Given the description of an element on the screen output the (x, y) to click on. 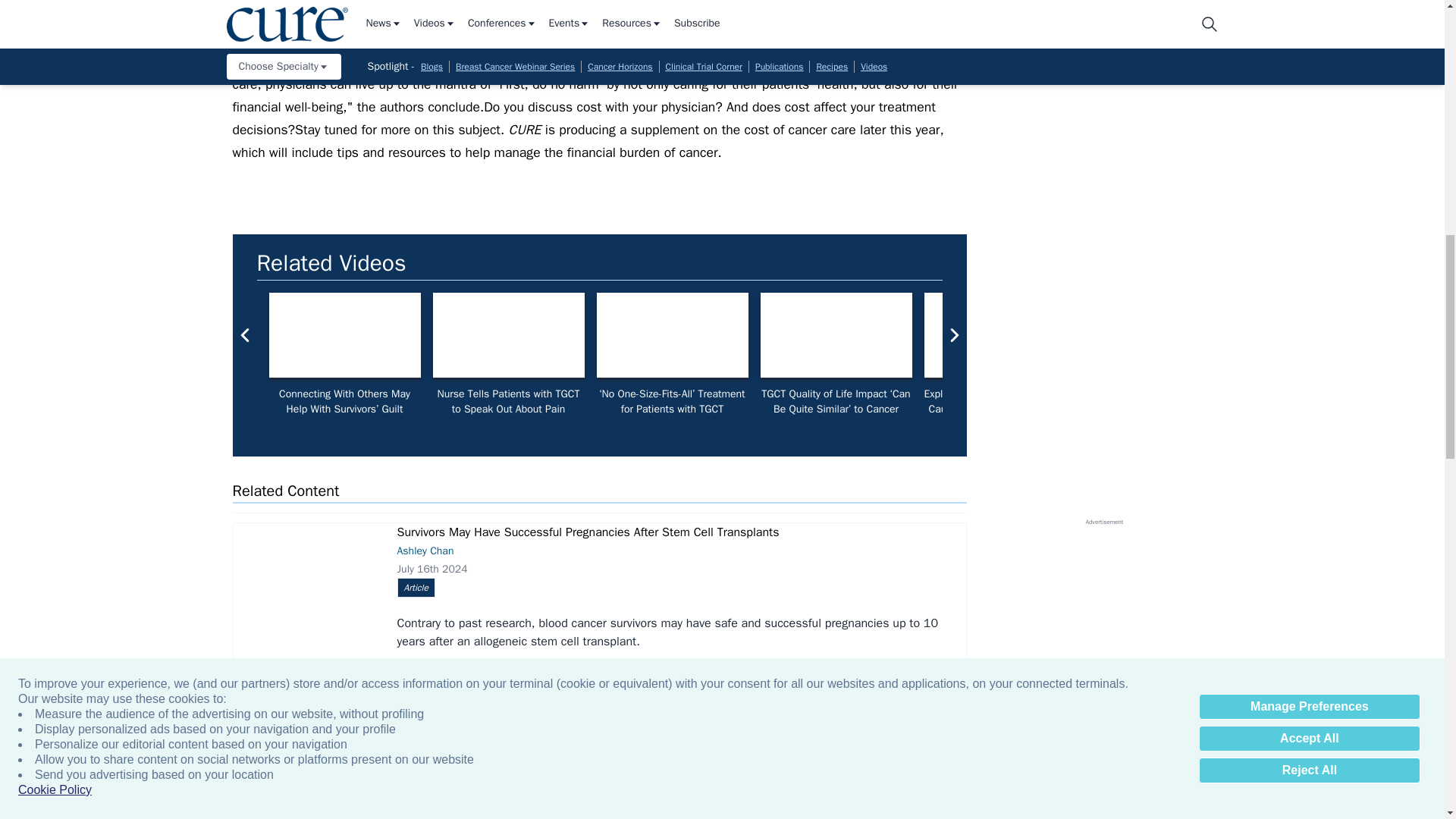
Image of a woman with a brown hair tied into a bun.  (343, 335)
Image of Annie Bond. (1326, 335)
Nurse Tells Patients with TGCT to Speak Out About Pain (507, 335)
